Given the description of an element on the screen output the (x, y) to click on. 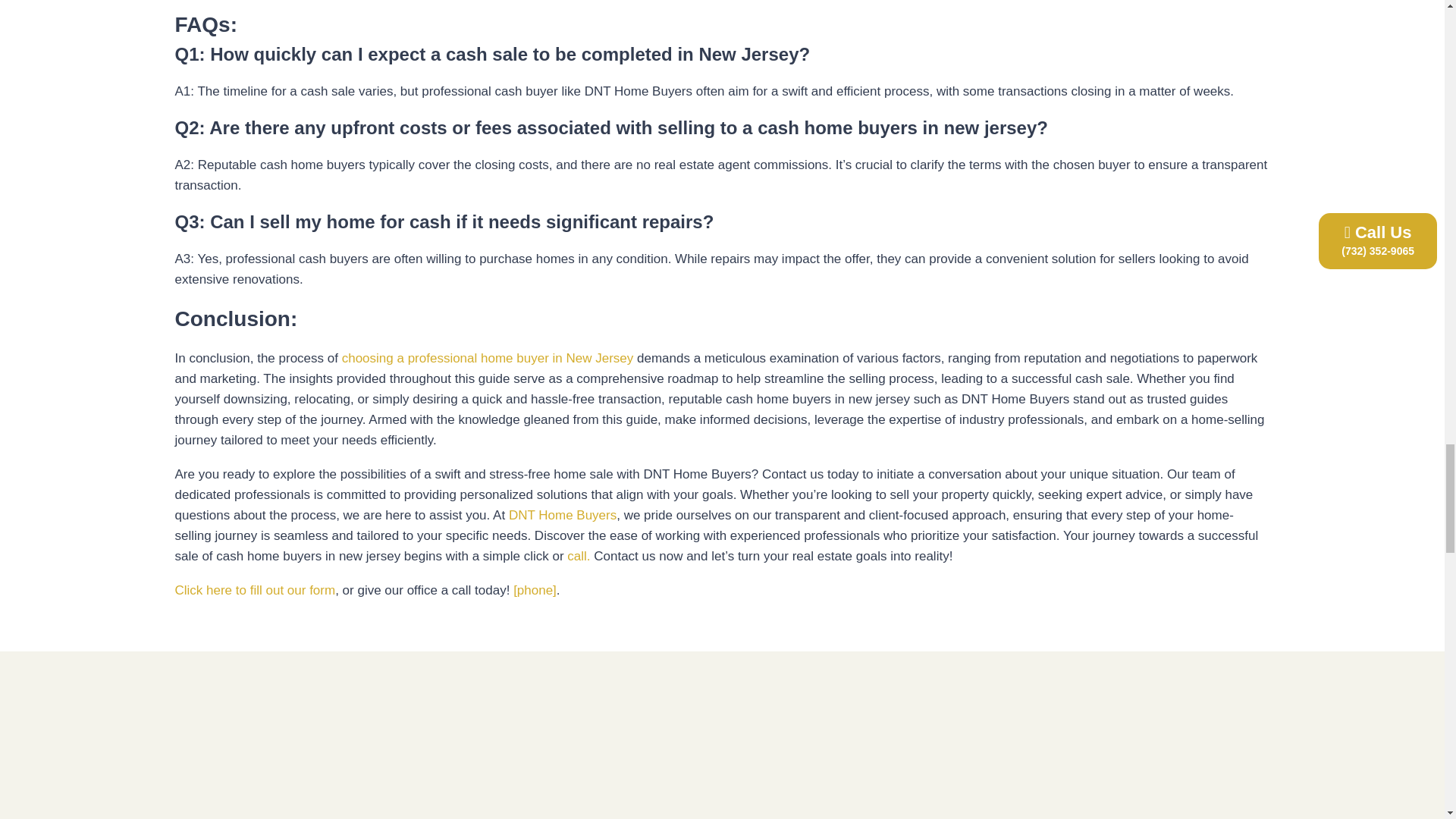
choosing a professional home buyer in New Jersey (489, 358)
Click here to fill out our form (254, 589)
call. (578, 555)
DNT Home Buyers (560, 514)
